Given the description of an element on the screen output the (x, y) to click on. 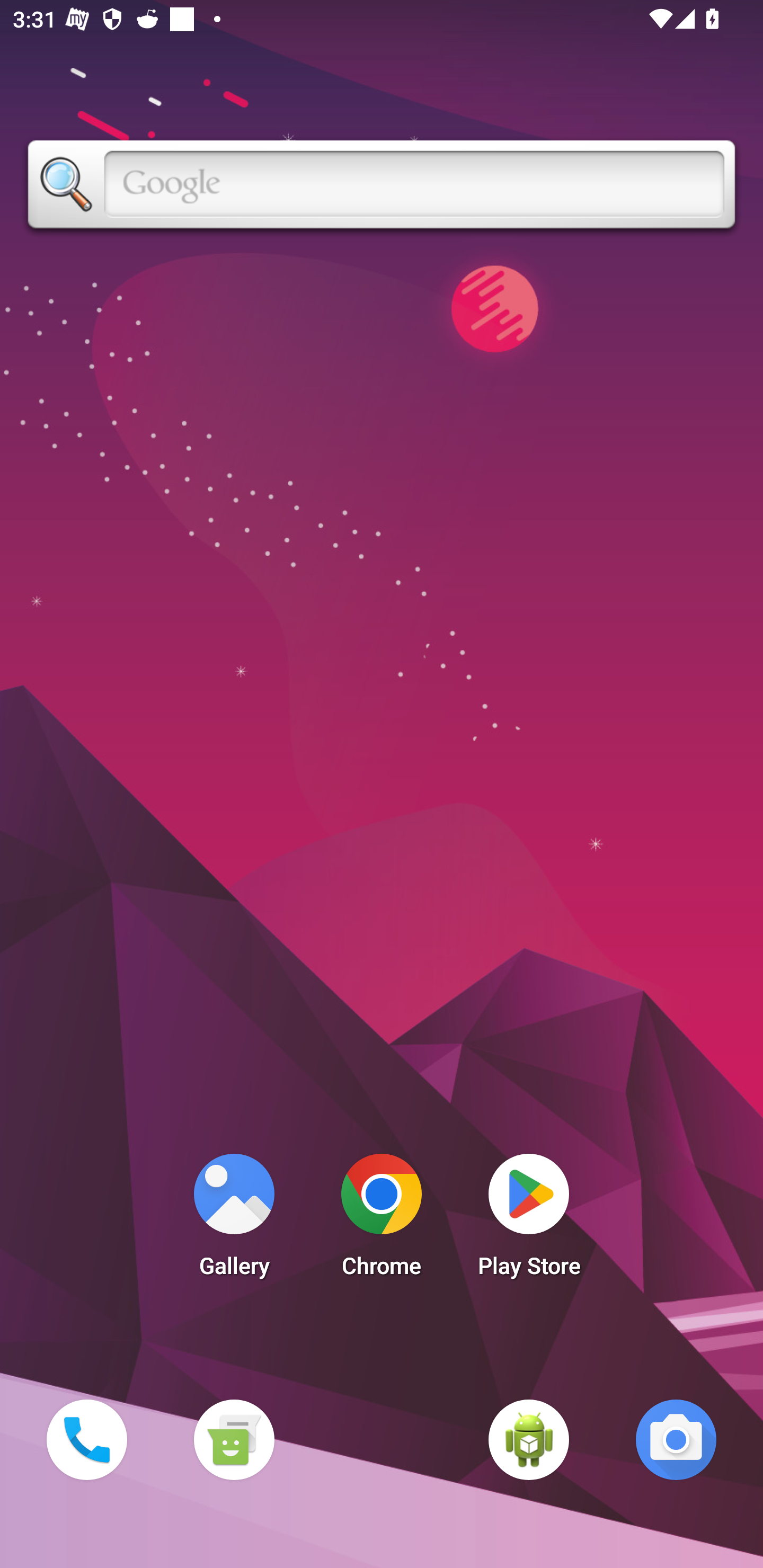
Gallery (233, 1220)
Chrome (381, 1220)
Play Store (528, 1220)
Phone (86, 1439)
Messaging (233, 1439)
WebView Browser Tester (528, 1439)
Camera (676, 1439)
